Given the description of an element on the screen output the (x, y) to click on. 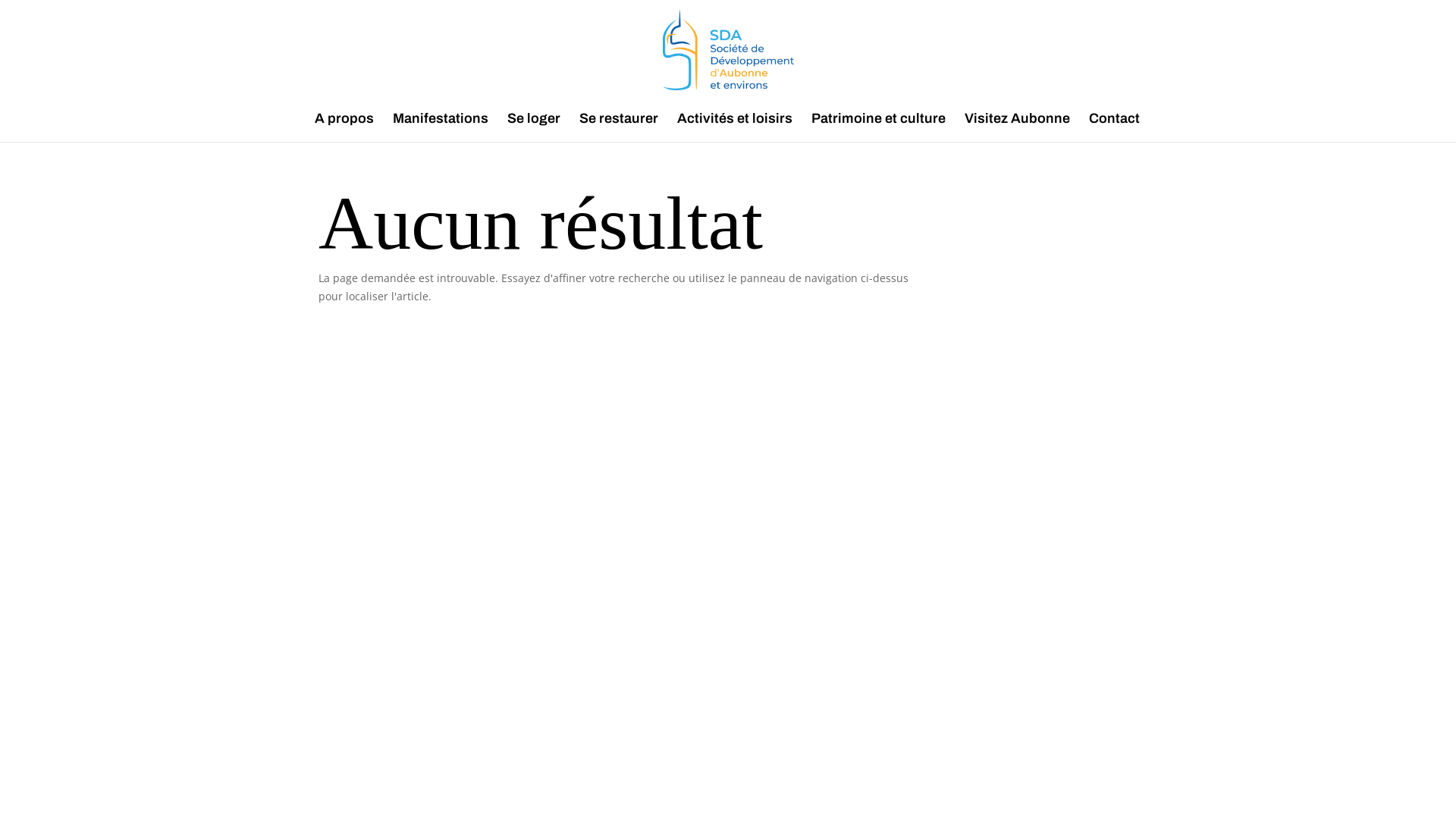
Manifestations Element type: text (440, 126)
Contact Element type: text (1113, 126)
Patrimoine et culture Element type: text (878, 126)
A propos Element type: text (343, 126)
Se restaurer Element type: text (618, 126)
Se loger Element type: text (533, 126)
Visitez Aubonne Element type: text (1017, 126)
